Given the description of an element on the screen output the (x, y) to click on. 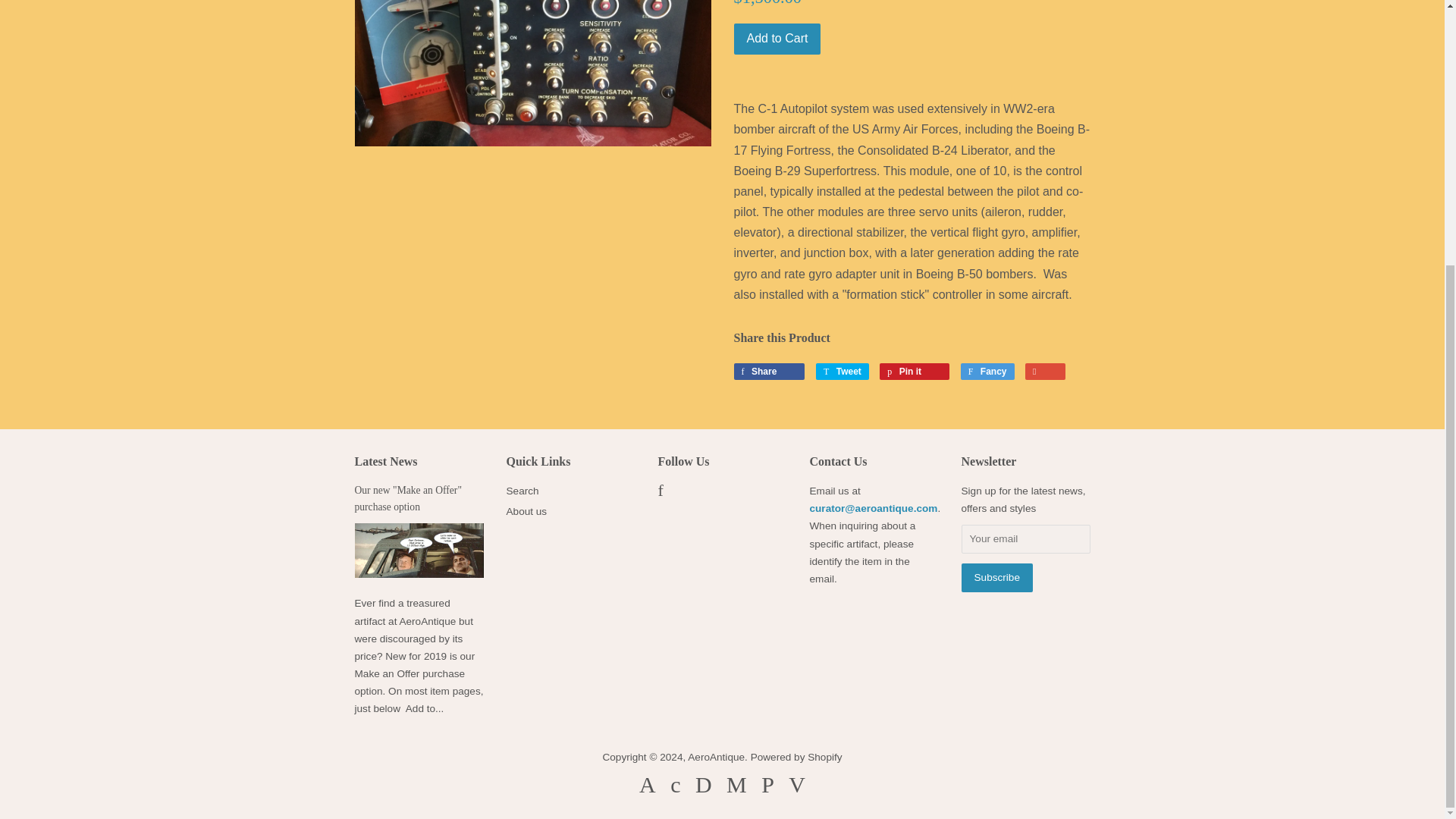
Subscribe (996, 577)
